Given the description of an element on the screen output the (x, y) to click on. 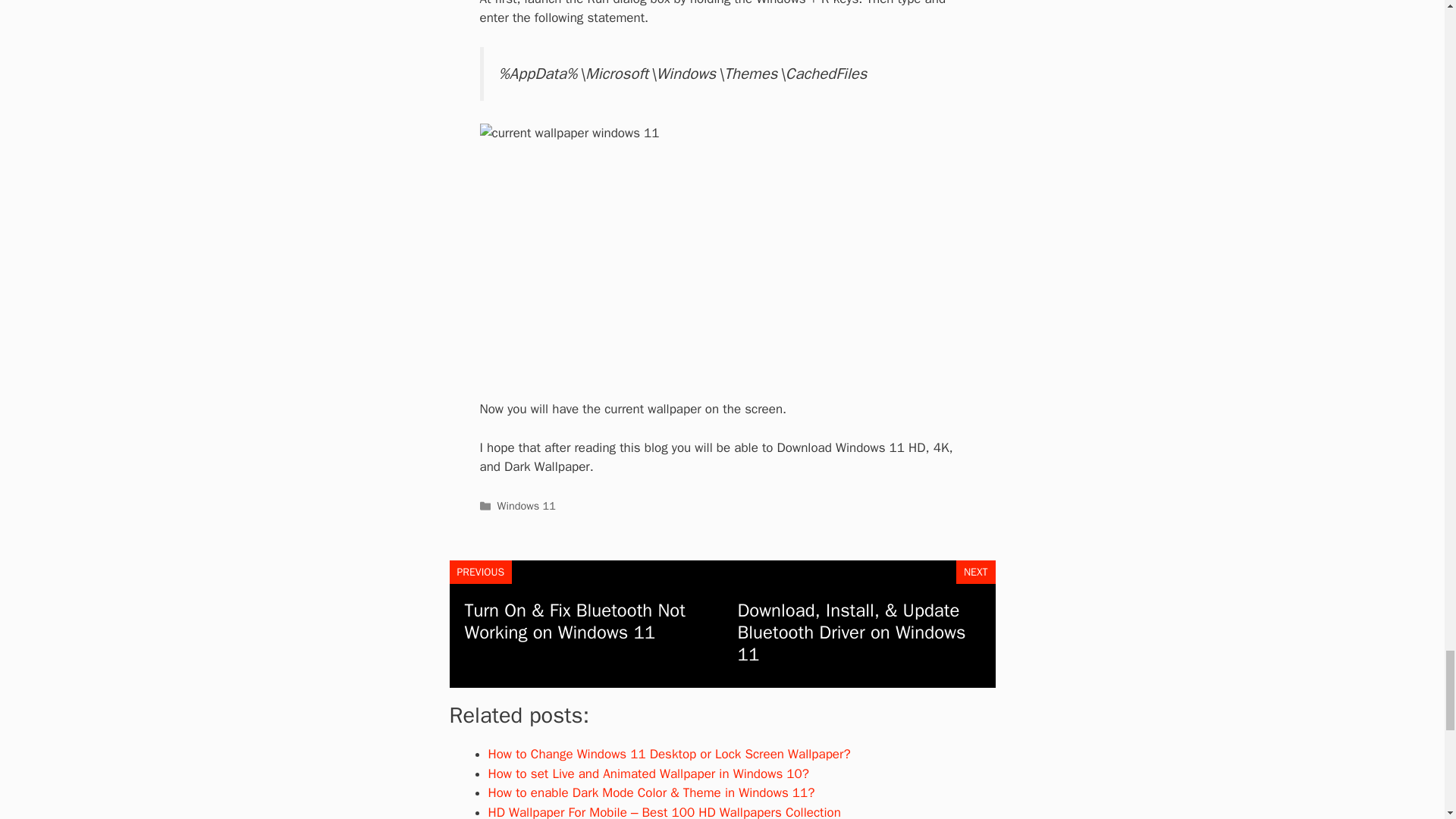
How to set Live and Animated Wallpaper in Windows 10? (648, 773)
How to Change Windows 11 Desktop or Lock Screen Wallpaper? (668, 754)
Windows 11 (526, 505)
